Given the description of an element on the screen output the (x, y) to click on. 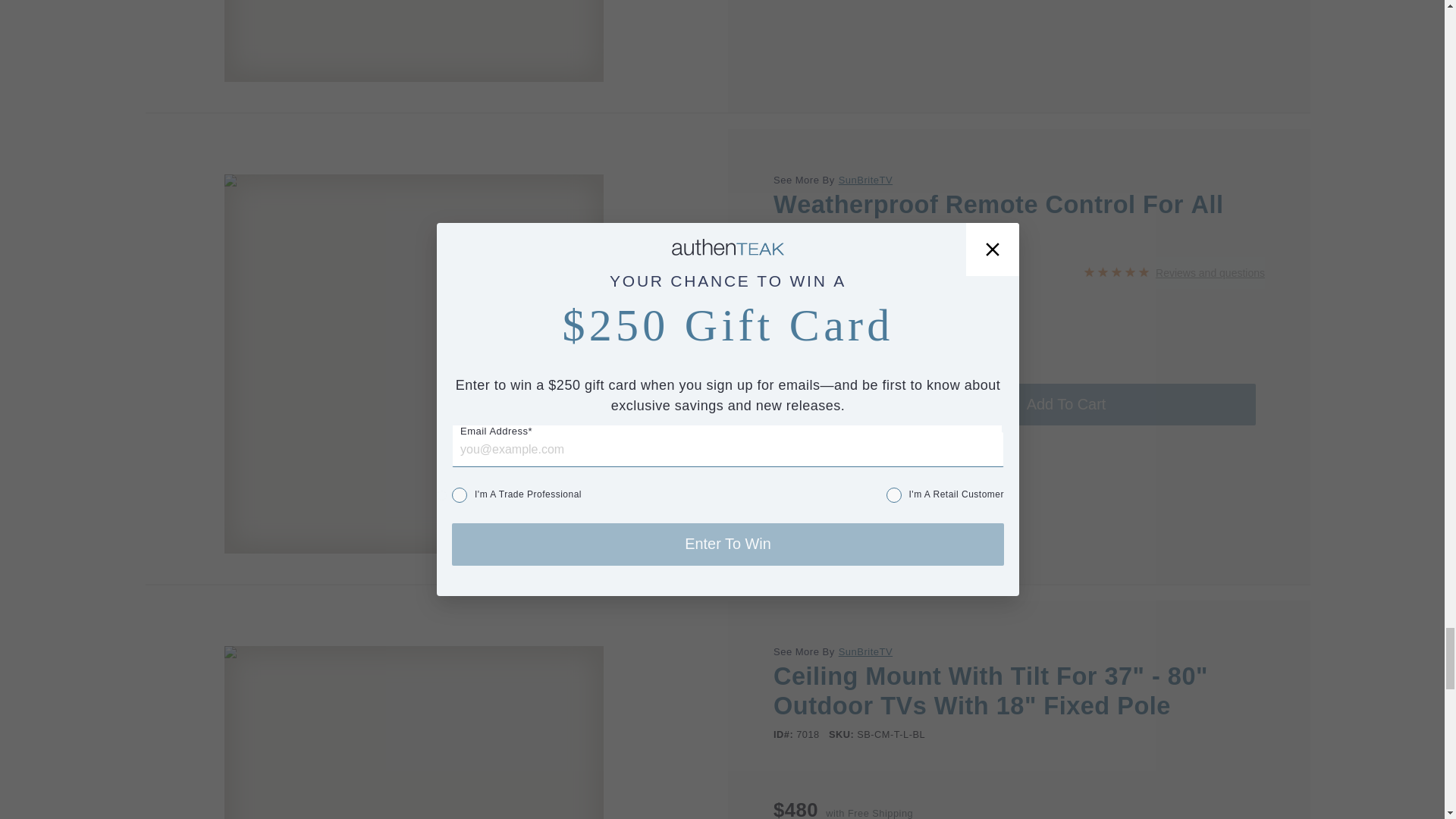
1 (817, 404)
